Given the description of an element on the screen output the (x, y) to click on. 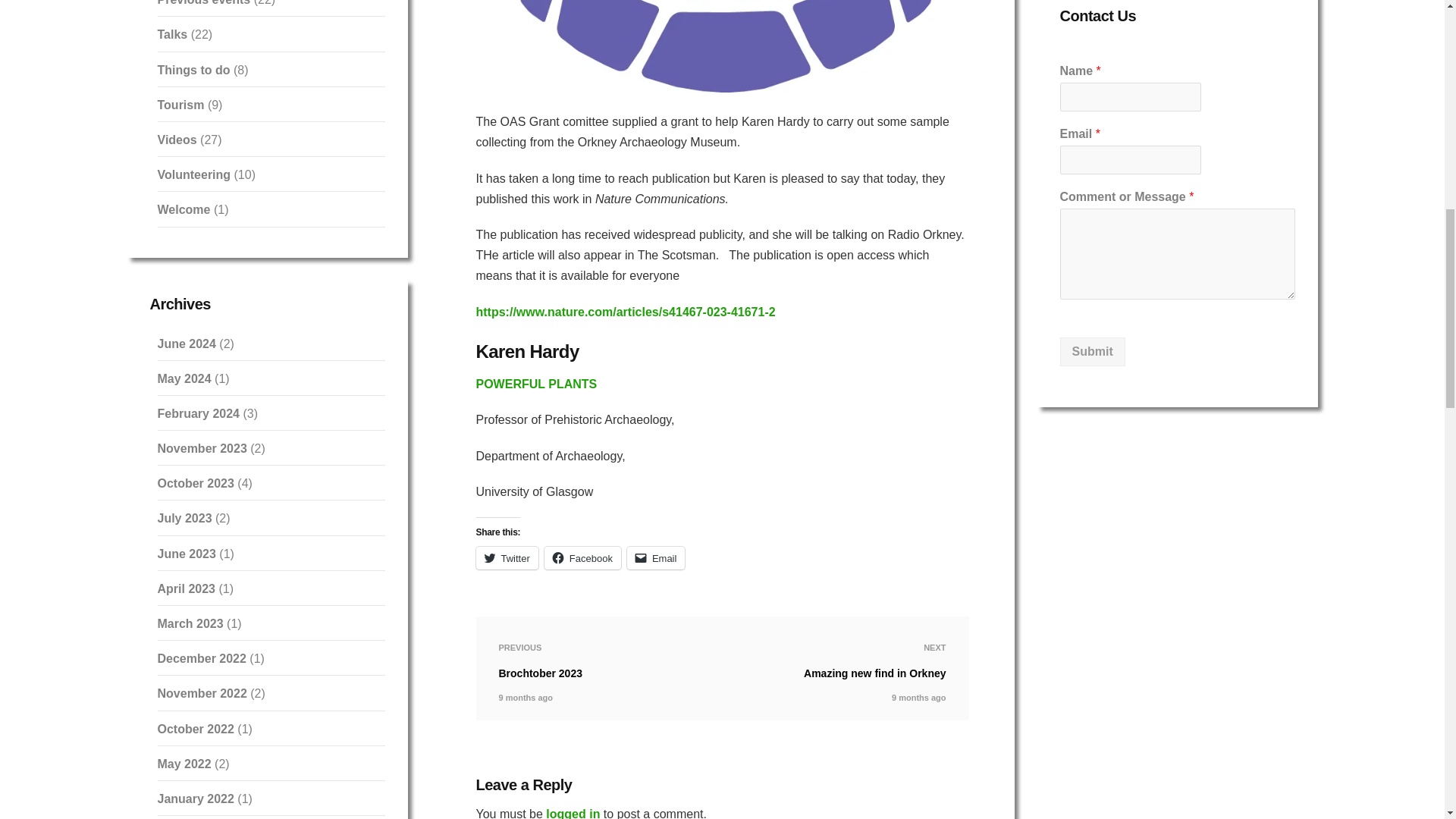
Previous events (203, 2)
Talks (172, 33)
